Given the description of an element on the screen output the (x, y) to click on. 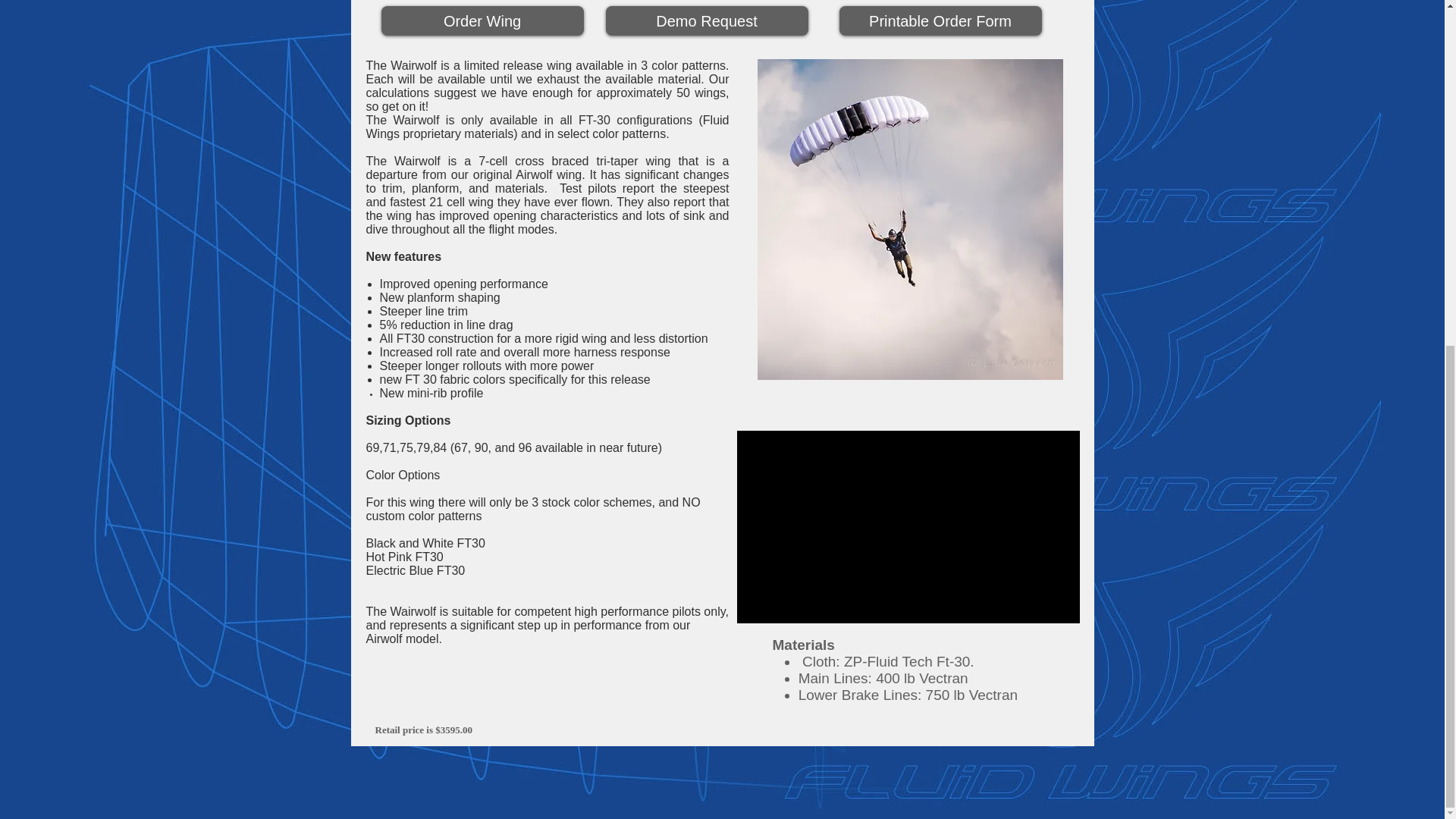
Order Wing (481, 20)
Demo Request (706, 20)
Printable Order Form (939, 20)
